Given the description of an element on the screen output the (x, y) to click on. 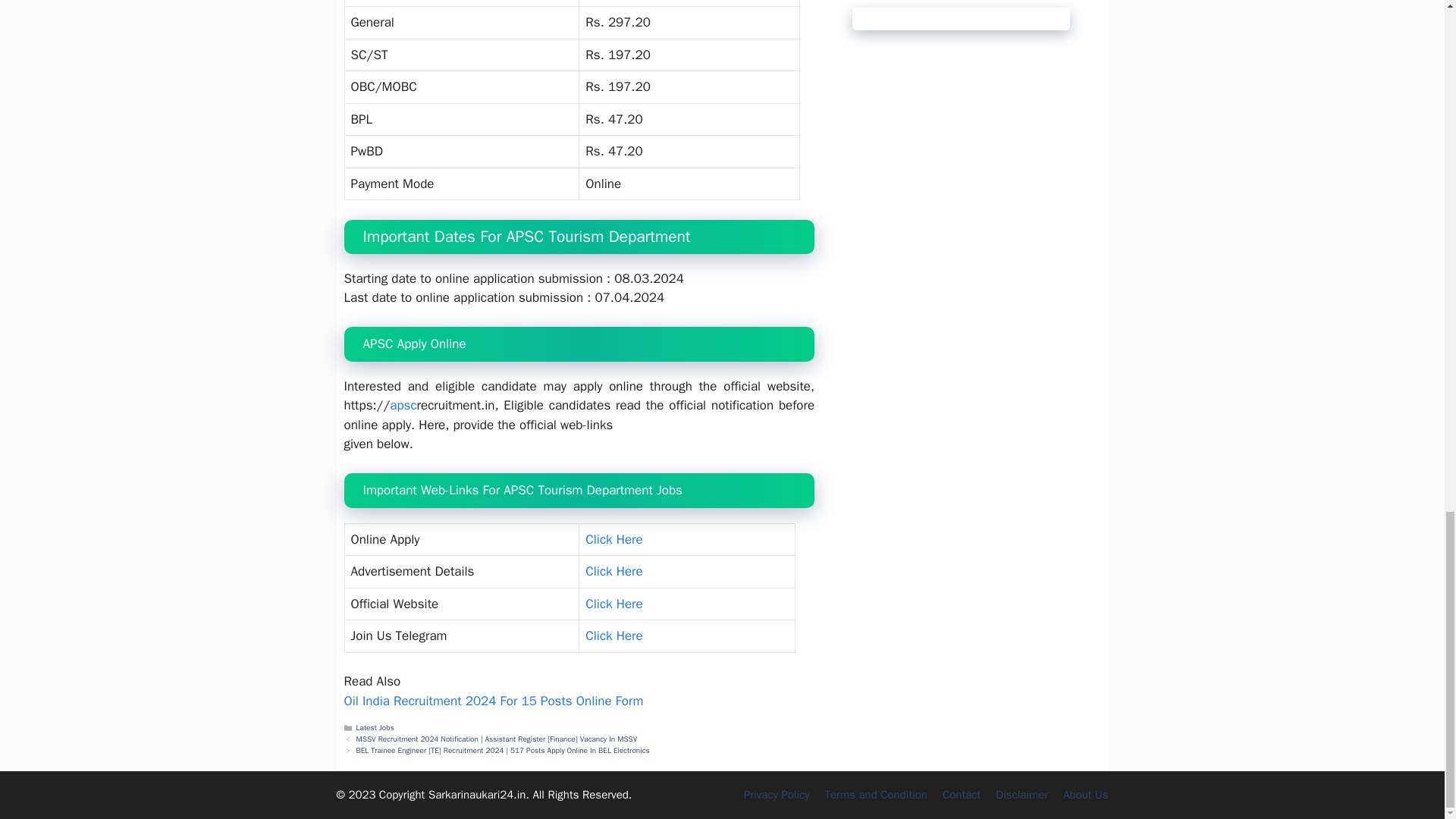
Scroll back to top (1406, 150)
apsc (403, 405)
Click Here (613, 539)
Privacy Policy (776, 794)
Disclaimer (1021, 794)
Click Here (613, 603)
Oil India Recruitment 2024 For 15 Posts Online Form (493, 700)
About Us (1085, 794)
Contact (960, 794)
Click Here (613, 635)
